Given the description of an element on the screen output the (x, y) to click on. 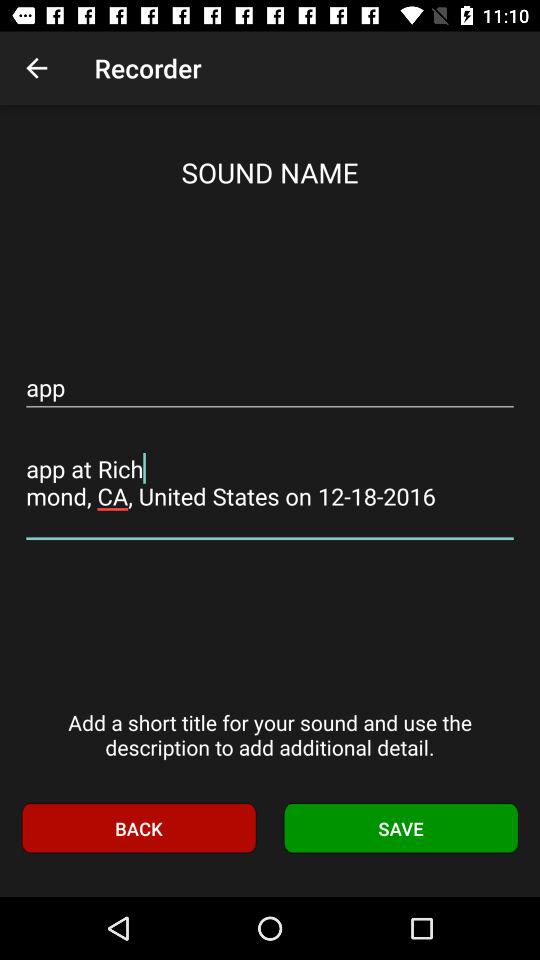
turn off item at the bottom right corner (401, 828)
